Given the description of an element on the screen output the (x, y) to click on. 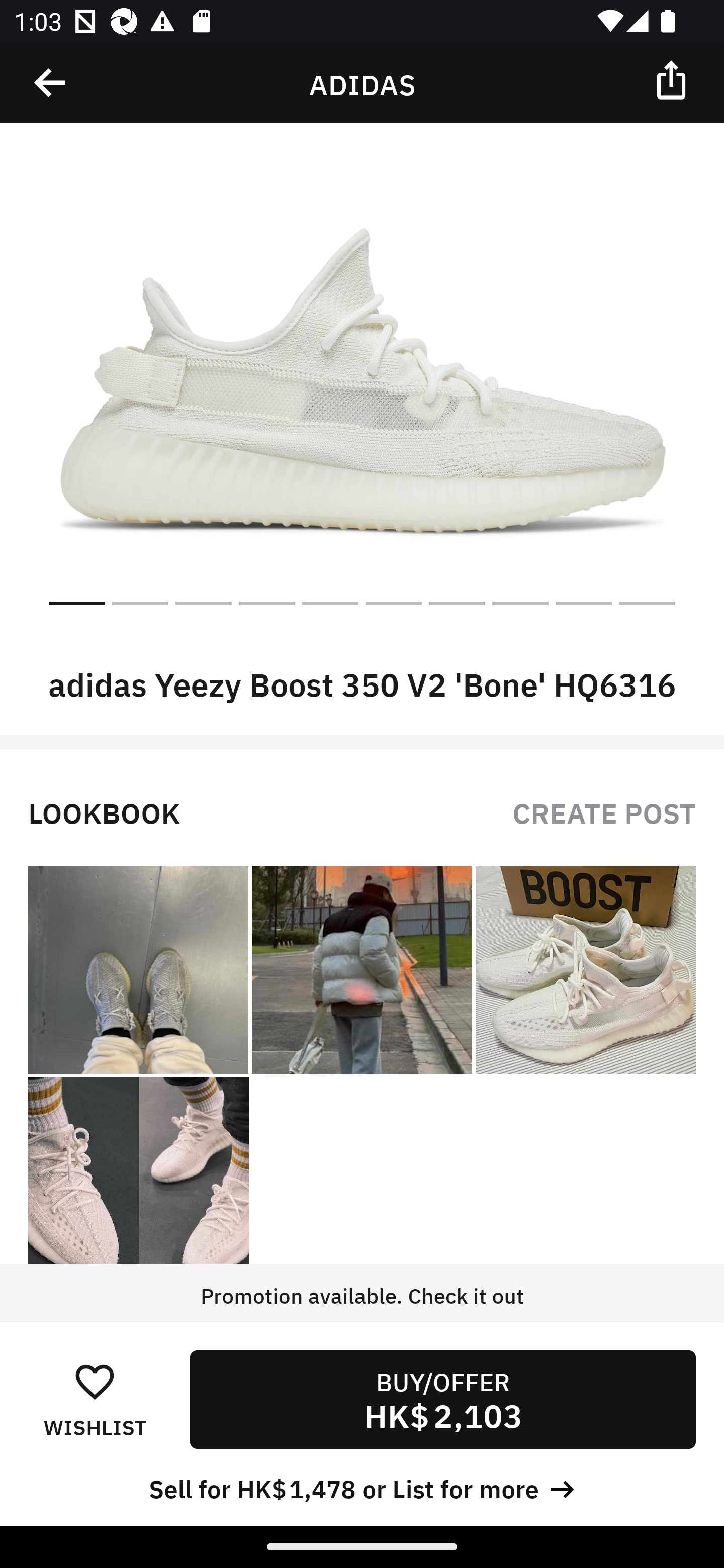
 (50, 83)
 (672, 79)
CREATE POST (603, 811)
BUY/OFFER HK$ 2,103 (442, 1399)
󰋕 (94, 1380)
Sell for HK$ 1,478 or List for more (361, 1486)
